Given the description of an element on the screen output the (x, y) to click on. 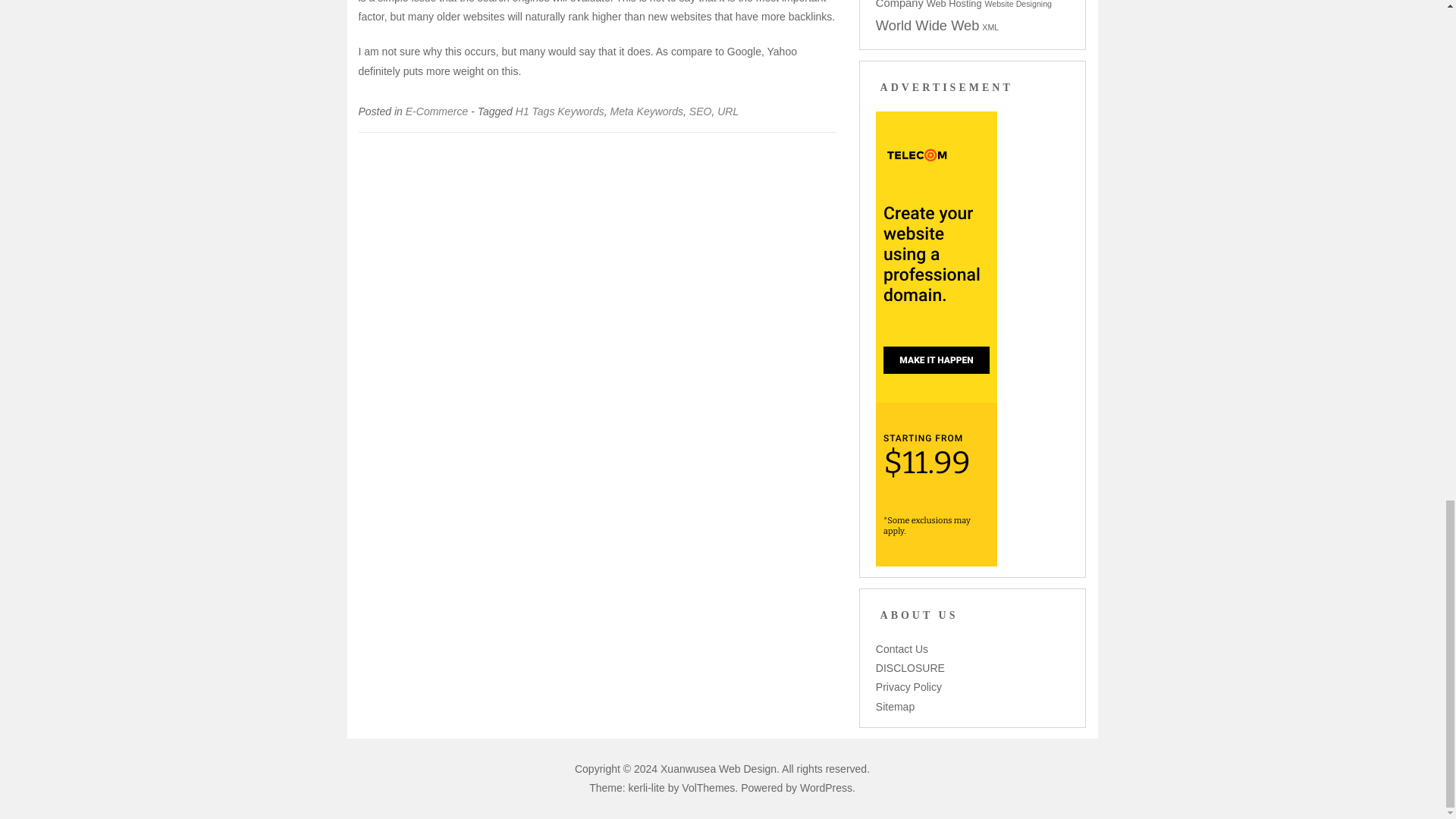
Meta Keywords (646, 111)
VolThemes (708, 787)
Xuanwusea Web Design (718, 768)
E-Commerce (436, 111)
H1 Tags Keywords (559, 111)
WordPress (825, 787)
URL (727, 111)
SEO (699, 111)
